Given the description of an element on the screen output the (x, y) to click on. 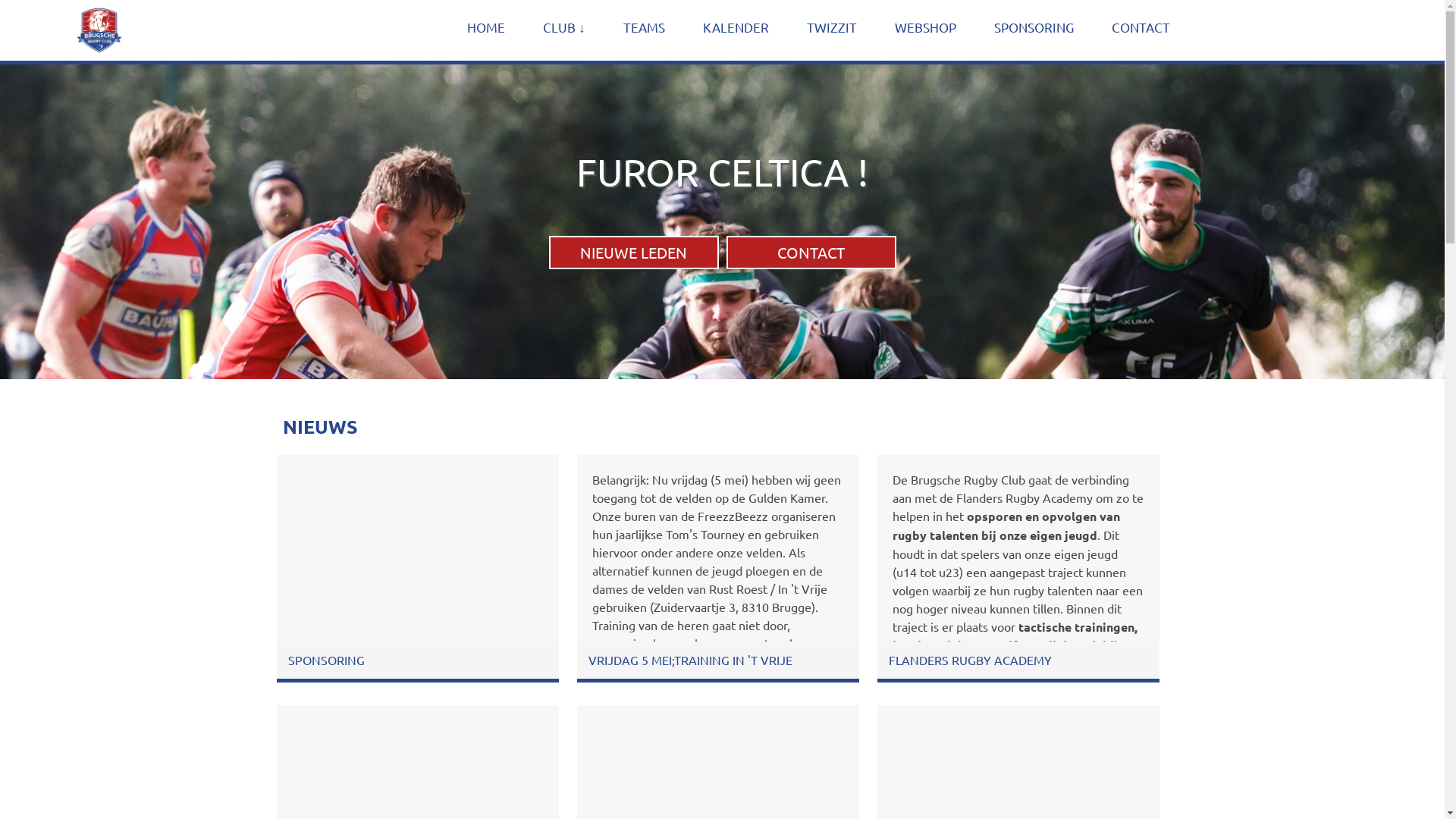
SPONSORING Element type: text (1033, 27)
KALENDER Element type: text (735, 27)
CONTACT Element type: text (810, 251)
SPONSORING Element type: text (326, 659)
TWIZZIT Element type: text (831, 27)
  Element type: text (120, 30)
FLANDERS RUGBY ACADEMY Element type: text (969, 659)
VRIJDAG 5 MEI;TRAINING IN 'T VRIJE Element type: text (690, 659)
WEBSHOP Element type: text (925, 27)
Vrijdag 5 mei;Training in 't Vrije Element type: text (717, 549)
Sponsoring Element type: text (417, 549)
HOME Element type: text (486, 27)
TEAMS Element type: text (644, 27)
CONTACT Element type: text (1140, 27)
NIEUWE LEDEN Element type: text (633, 251)
Flanders Rugby Academy Element type: text (1017, 549)
